Given the description of an element on the screen output the (x, y) to click on. 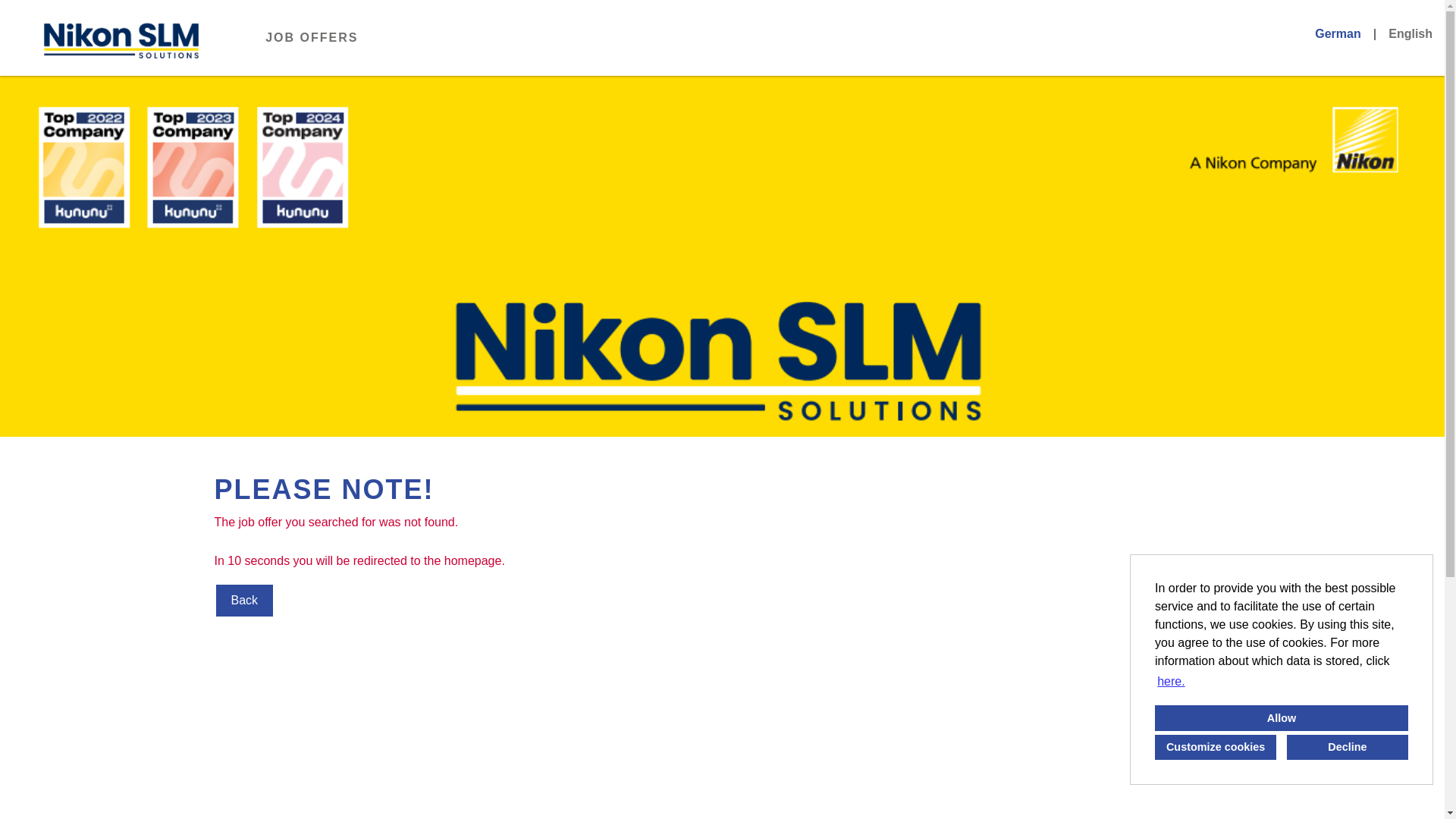
Customize cookies (1215, 746)
Allow (1280, 718)
Decline (1347, 746)
German (1336, 33)
Back (244, 600)
German (1336, 33)
JOB OFFERS (311, 37)
here. (1171, 681)
